Given the description of an element on the screen output the (x, y) to click on. 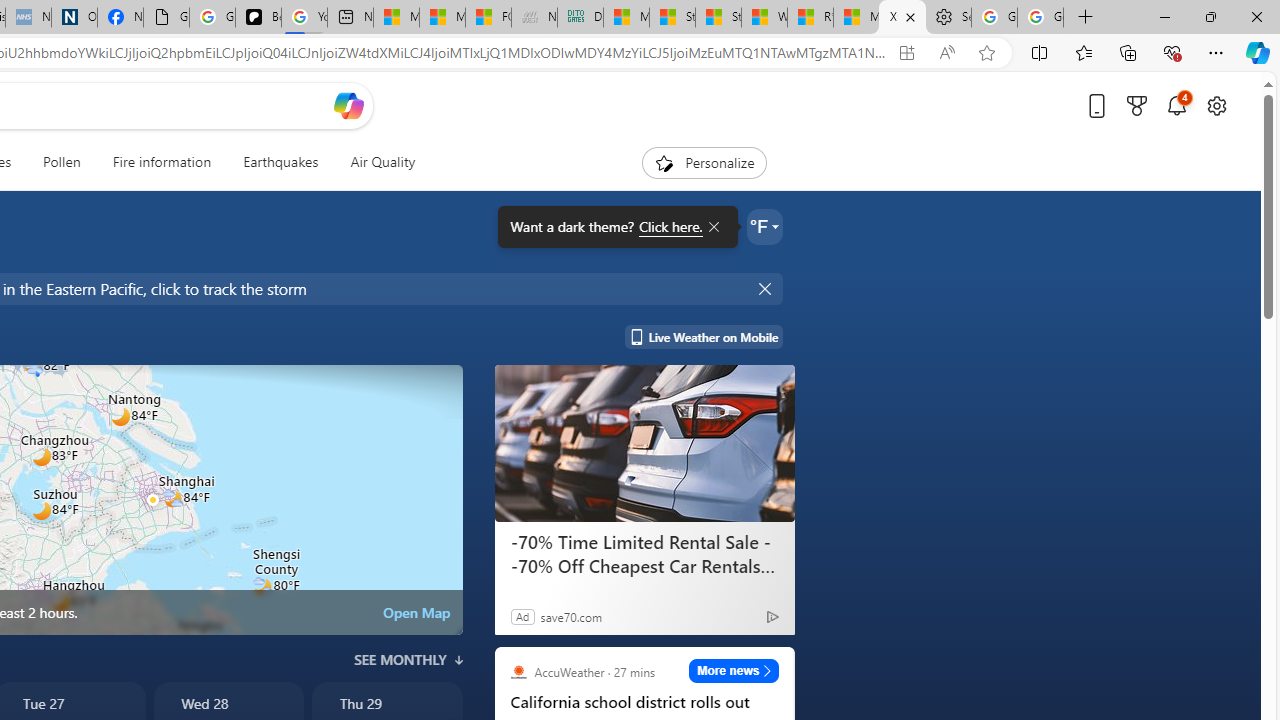
Air Quality (375, 162)
Weather settings (764, 226)
Fire information (161, 162)
Hide (766, 288)
Weather settings Want a dark theme?Click here. (764, 226)
Class: BubbleMessageCloseIcon-DS-EntryPoint1-1 (712, 227)
